Given the description of an element on the screen output the (x, y) to click on. 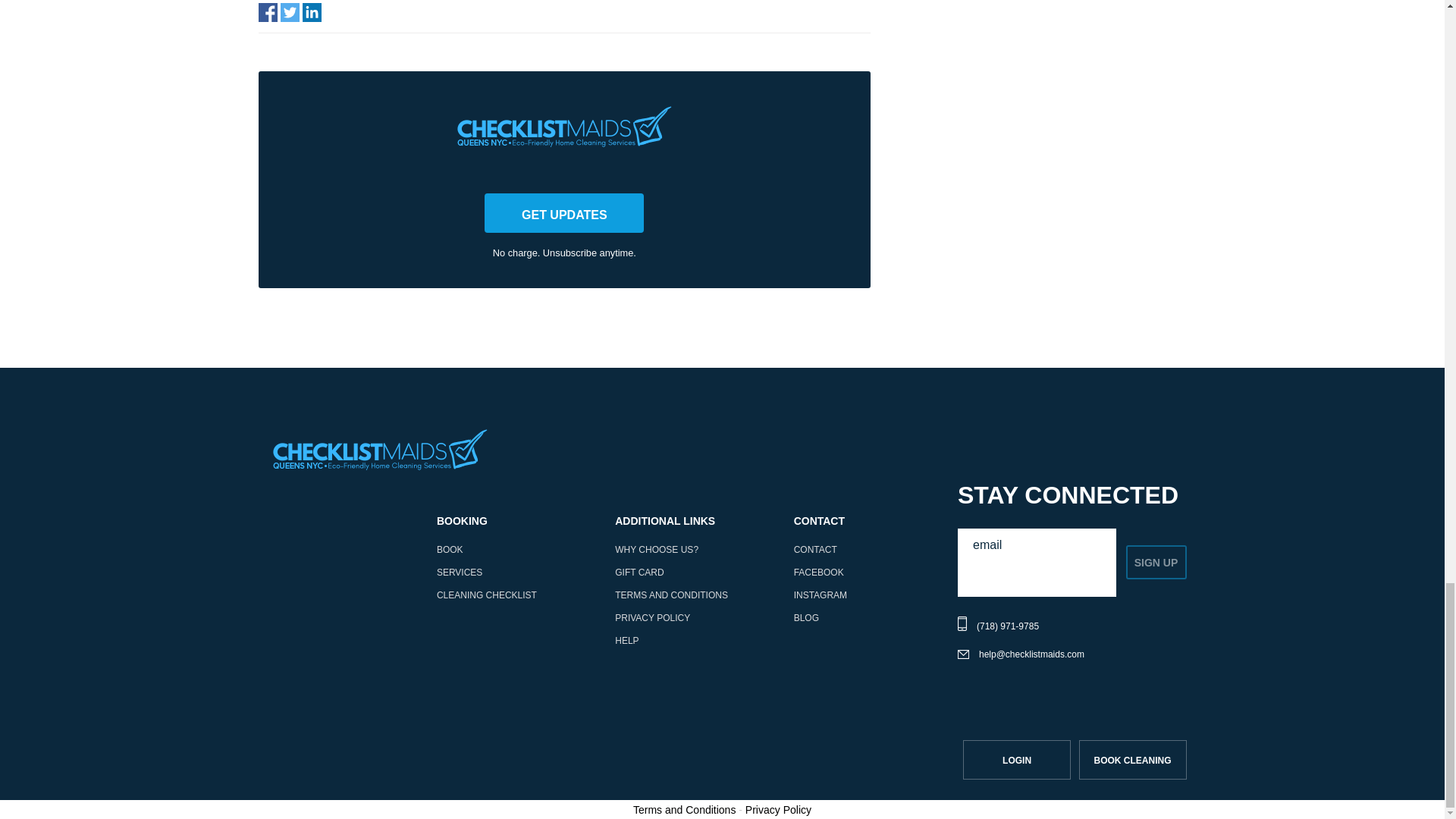
GET UPDATES (563, 212)
Sign up (1155, 562)
email (1037, 545)
